Given the description of an element on the screen output the (x, y) to click on. 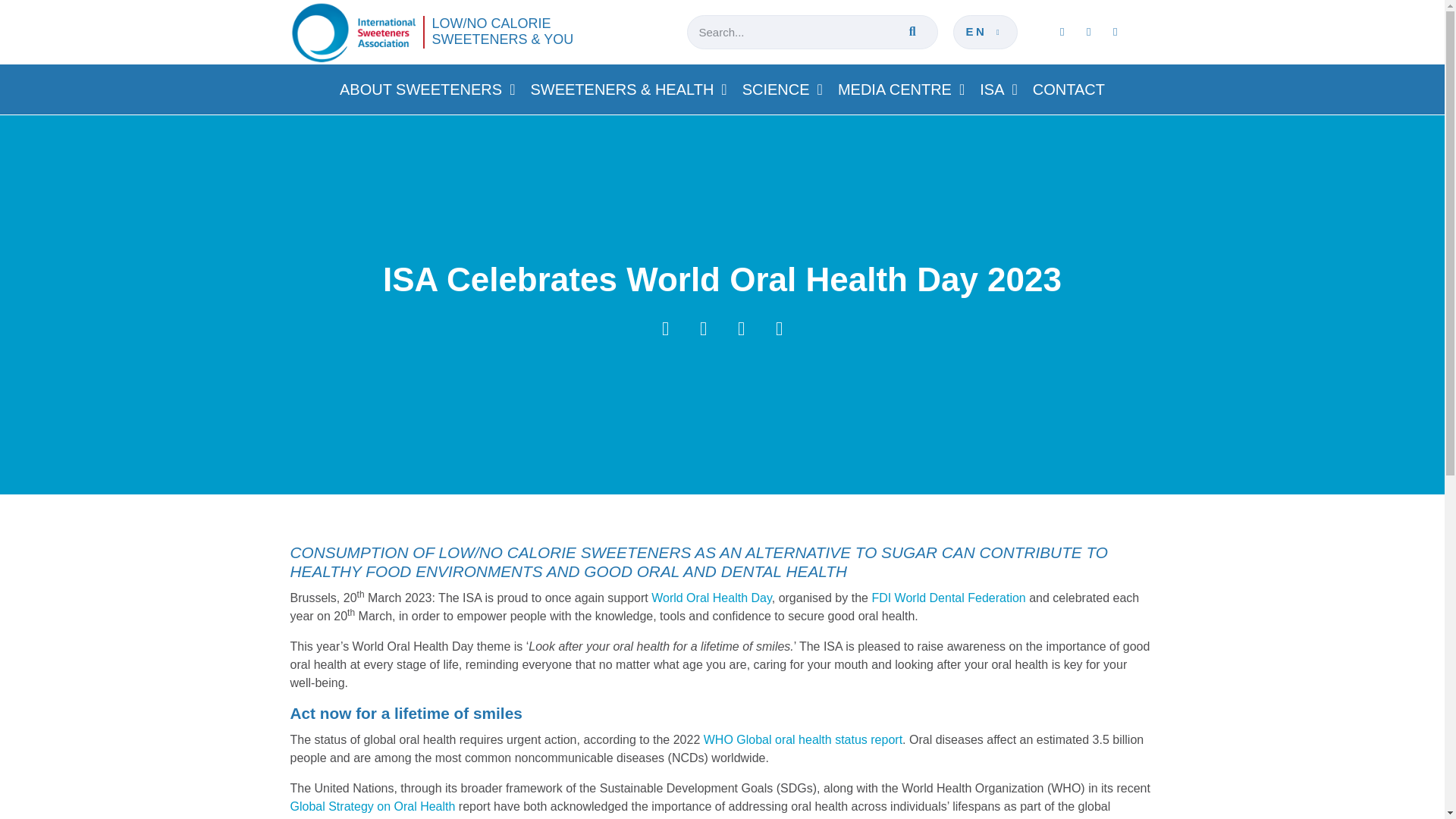
MEDIA CENTRE (900, 89)
EN (985, 32)
EN (985, 32)
ABOUT SWEETENERS (427, 89)
SCIENCE (782, 89)
